Given the description of an element on the screen output the (x, y) to click on. 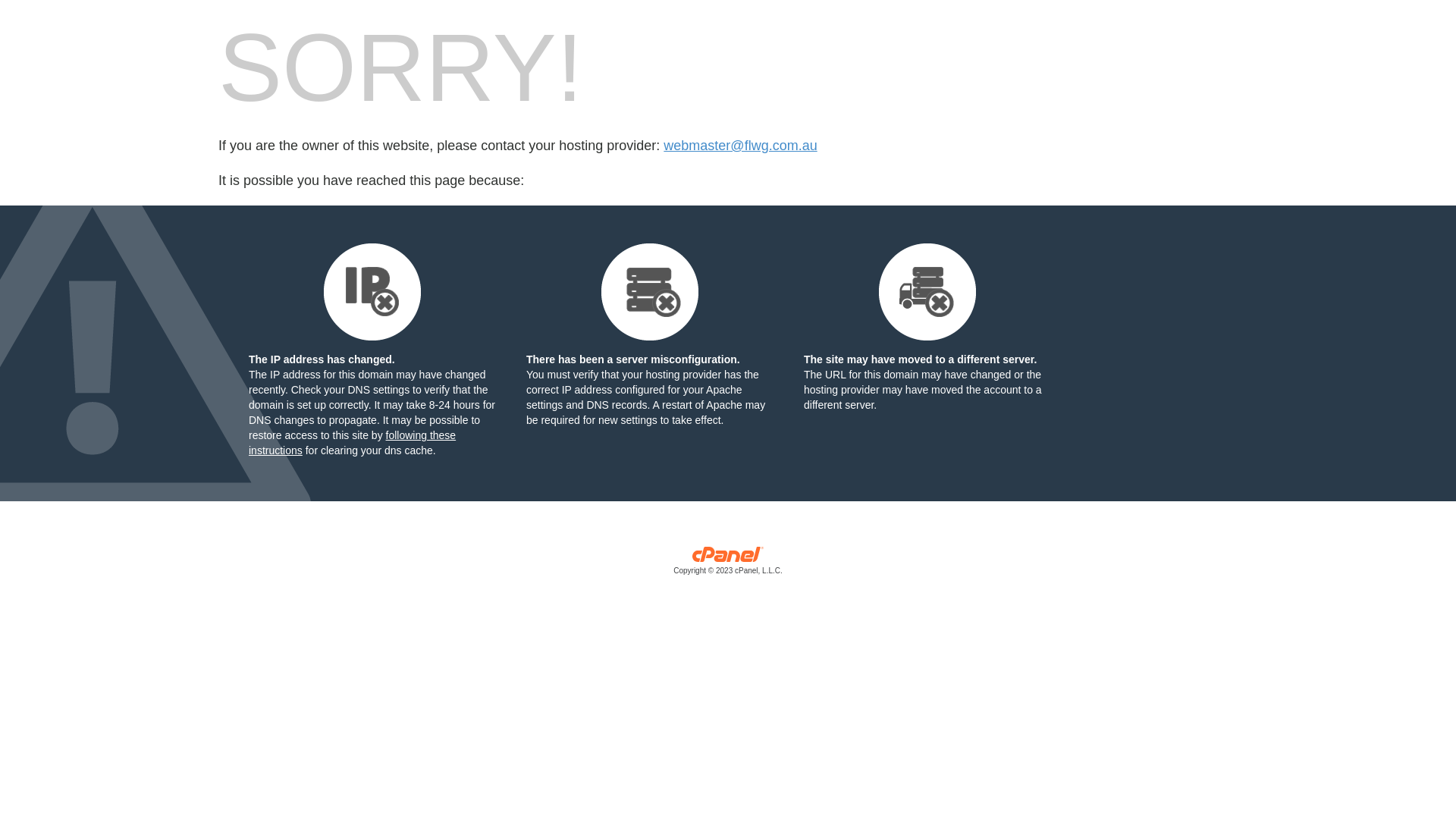
following these instructions Element type: text (351, 442)
webmaster@flwg.com.au Element type: text (739, 145)
